Given the description of an element on the screen output the (x, y) to click on. 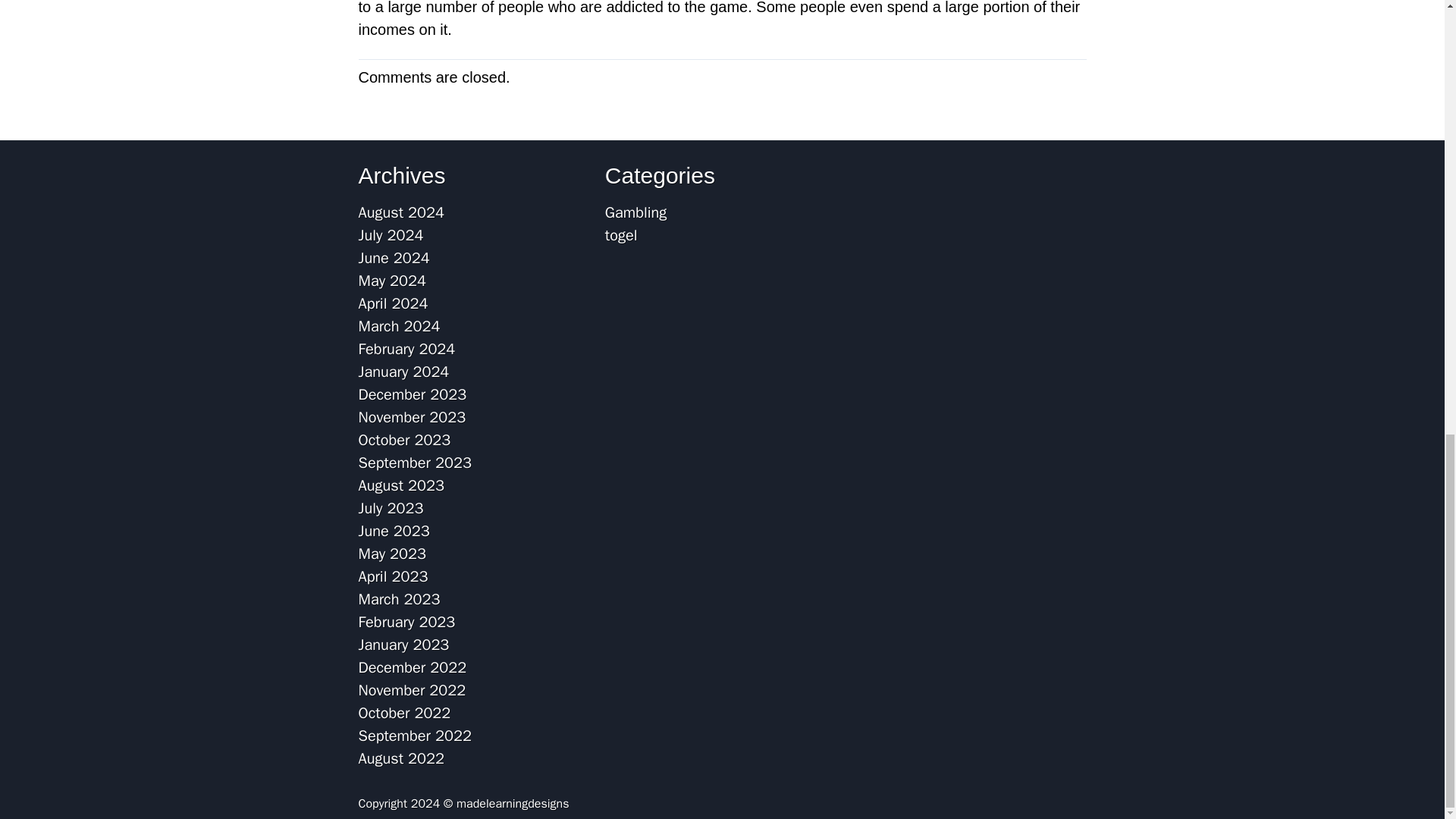
Gambling (635, 212)
March 2023 (398, 599)
July 2023 (390, 507)
February 2023 (406, 621)
February 2024 (406, 348)
August 2022 (401, 758)
May 2024 (392, 280)
togel (621, 235)
December 2022 (411, 667)
December 2023 (411, 394)
